Given the description of an element on the screen output the (x, y) to click on. 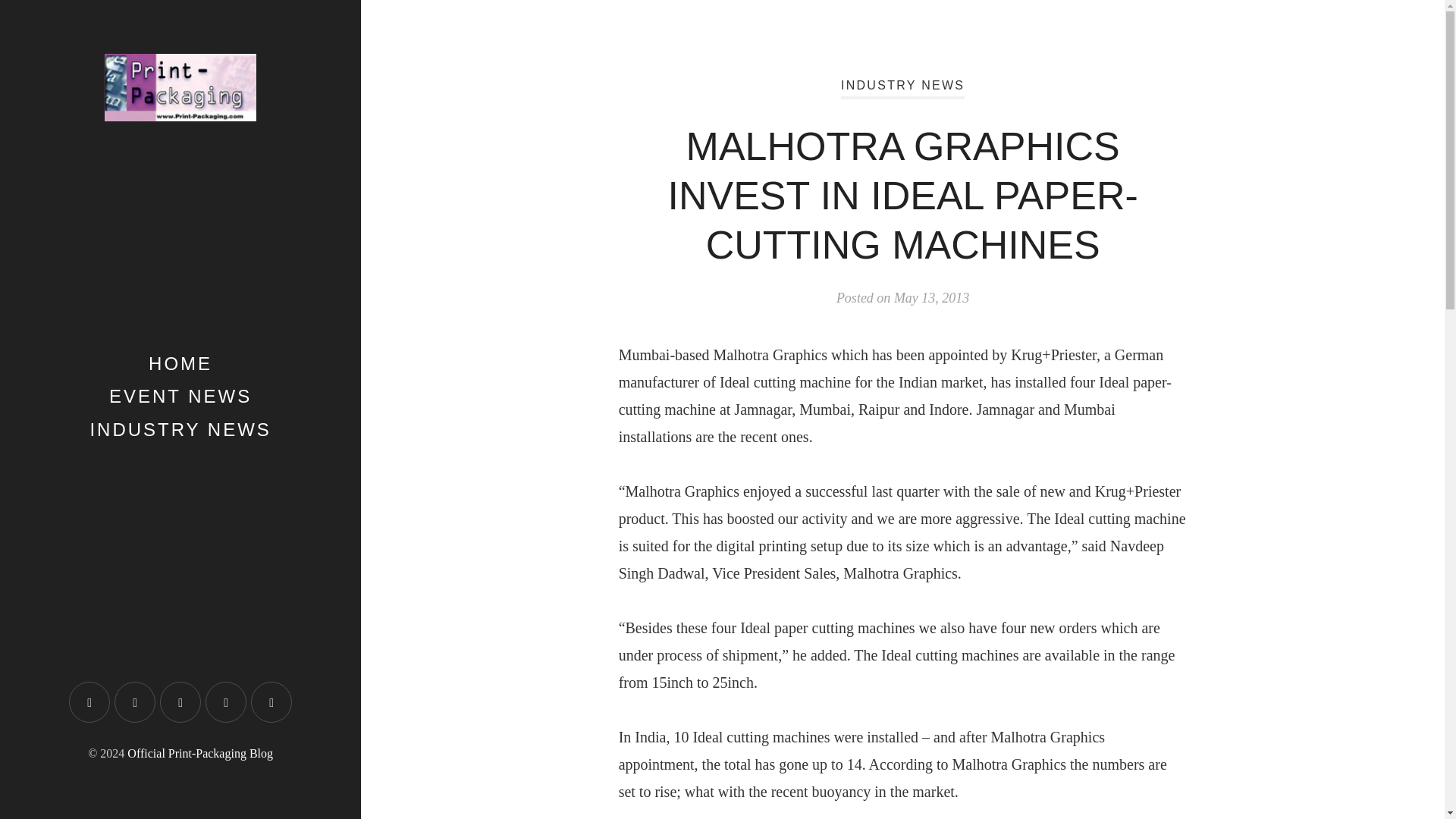
EVENT NEWS (180, 395)
Official Print-Packaging Blog (200, 753)
HOME (180, 362)
INDUSTRY NEWS (902, 88)
INDUSTRY NEWS (179, 429)
